Given the description of an element on the screen output the (x, y) to click on. 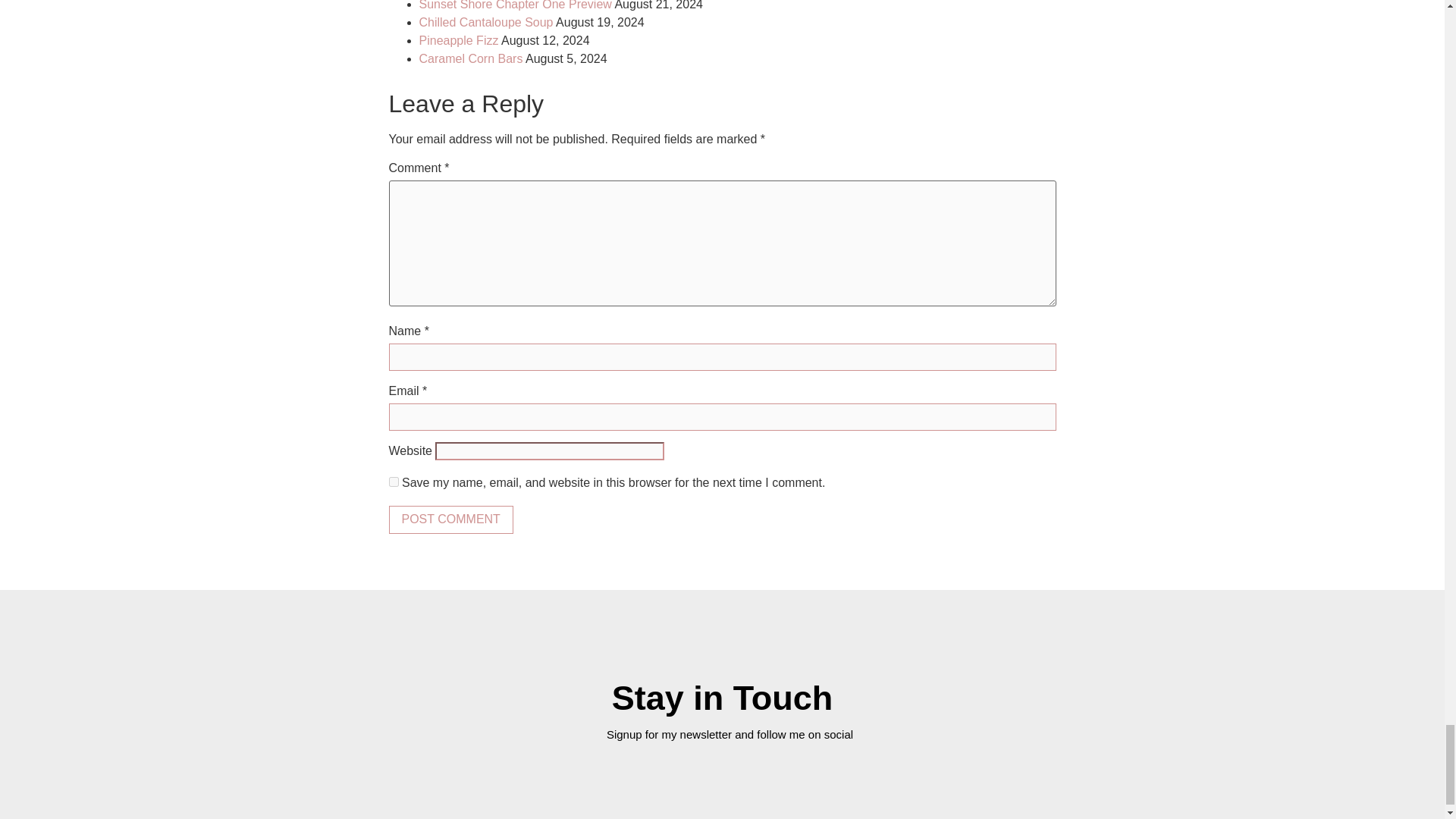
yes (392, 481)
Caramel Corn Bars (470, 58)
Pineapple Fizz (458, 40)
Post Comment (450, 519)
Chilled Cantaloupe Soup (486, 21)
Sunset Shore Chapter One Preview (515, 5)
